Given the description of an element on the screen output the (x, y) to click on. 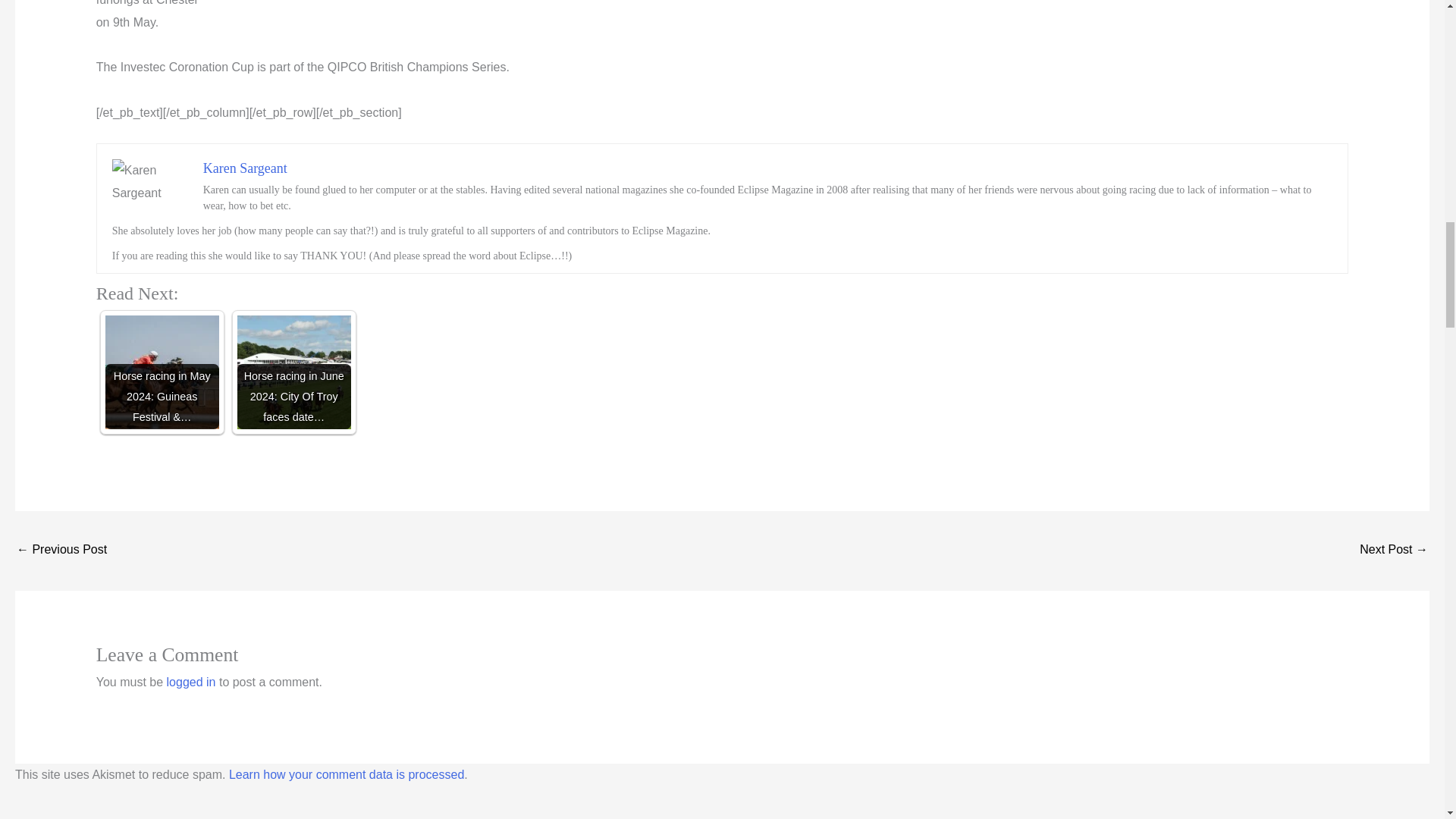
Learn how your comment data is processed (346, 774)
logged in (191, 681)
Karen Sargeant (244, 168)
From Ascot to Africa in London (1393, 551)
